Given the description of an element on the screen output the (x, y) to click on. 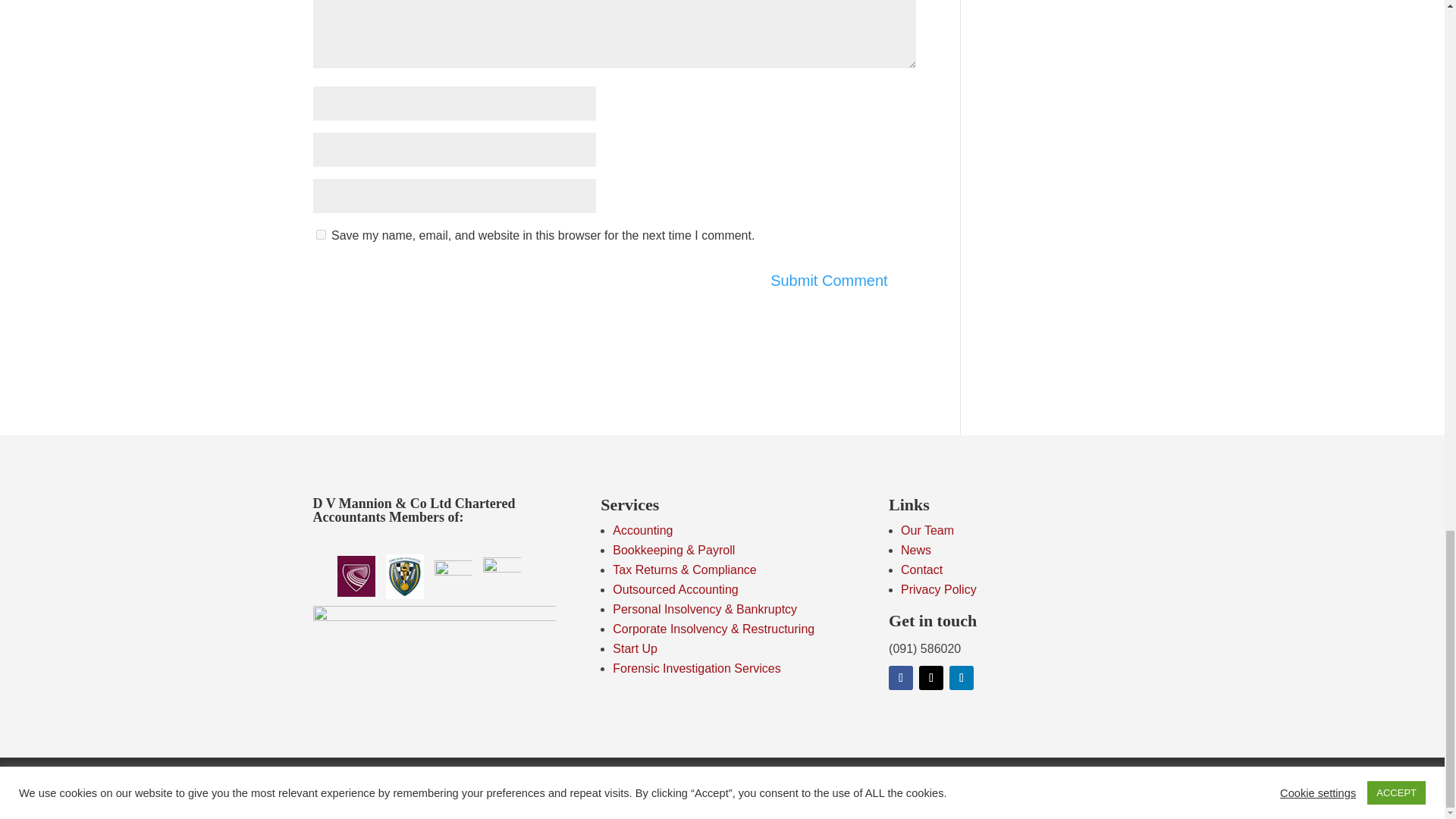
yes (319, 234)
Follow on Facebook (900, 677)
Submit Comment (828, 280)
Follow on X (930, 677)
GalwayChamber2022Signature (433, 624)
Follow on LinkedIn (961, 677)
